Given the description of an element on the screen output the (x, y) to click on. 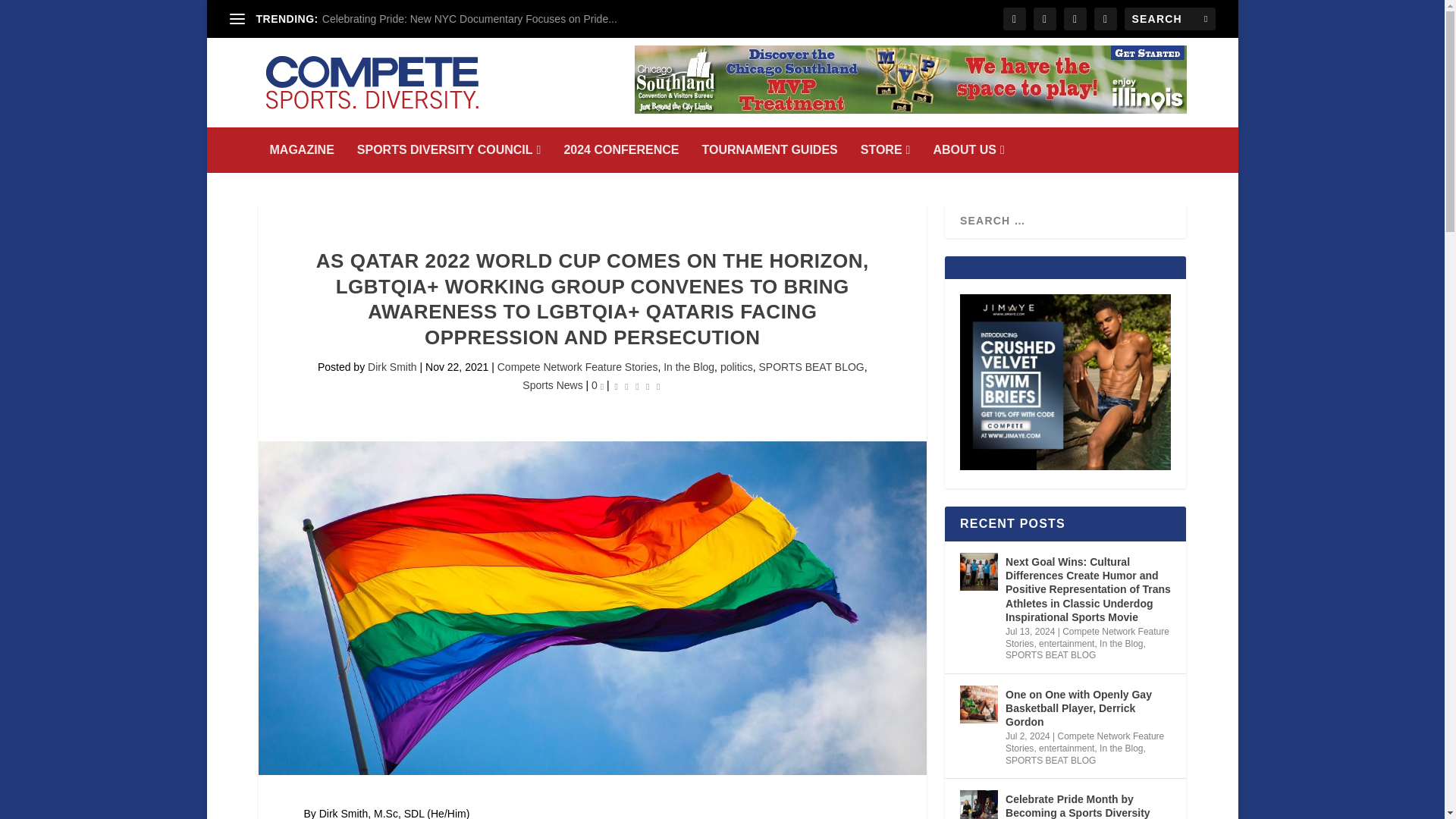
MAGAZINE (301, 149)
Celebrating Pride: New NYC Documentary Focuses on Pride... (469, 19)
2024 CONFERENCE (620, 149)
ABOUT US (968, 149)
Posts by Dirk Smith (392, 367)
STORE (885, 149)
TOURNAMENT GUIDES (769, 149)
SPORTS DIVERSITY COUNCIL (448, 149)
Rating: 0.00 (637, 385)
